Given the description of an element on the screen output the (x, y) to click on. 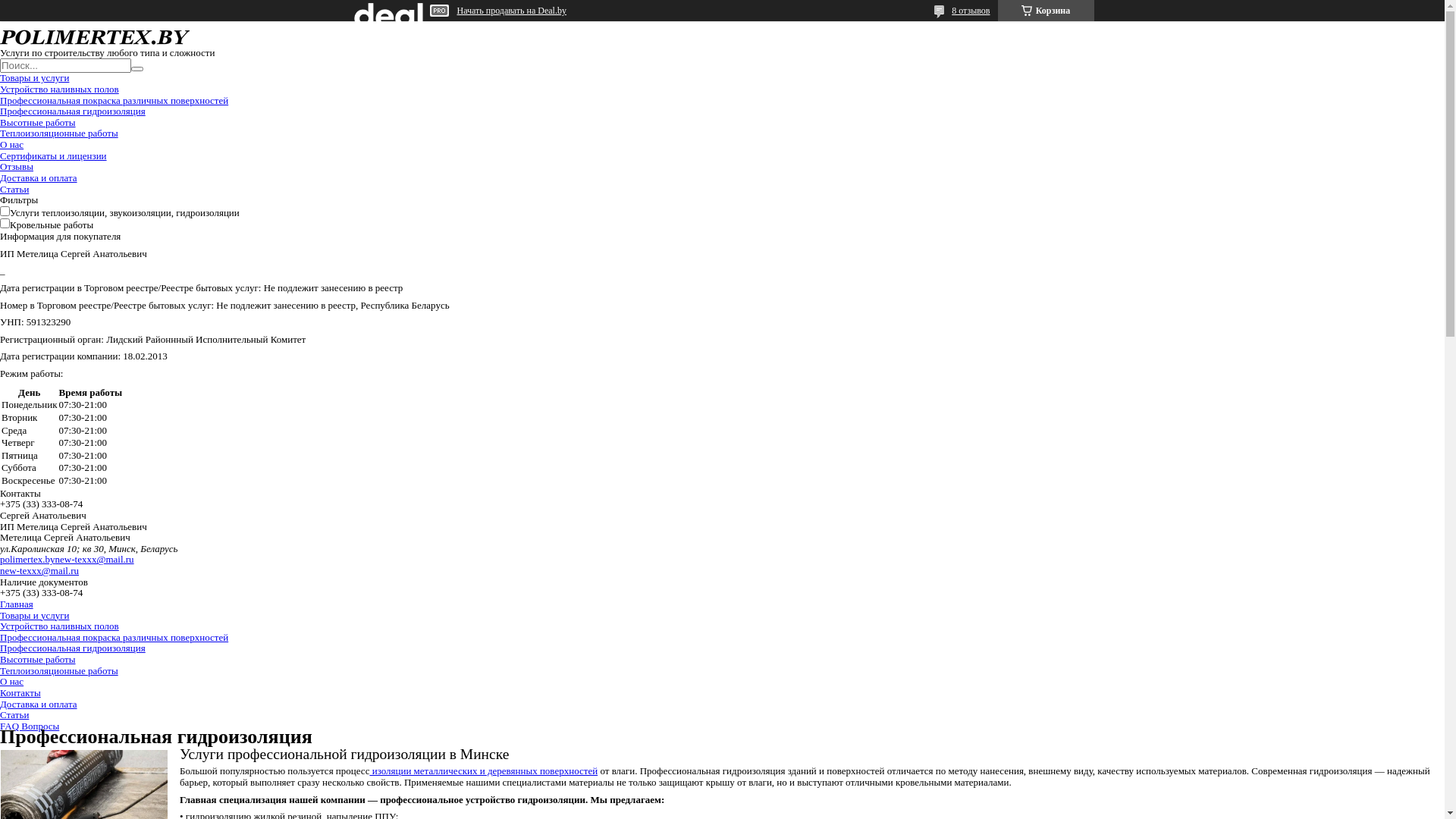
new-texxx@mail.ru Element type: text (94, 558)
polimertex.by Element type: text (27, 558)
new-texxx@mail.ru Element type: text (39, 570)
